Given the description of an element on the screen output the (x, y) to click on. 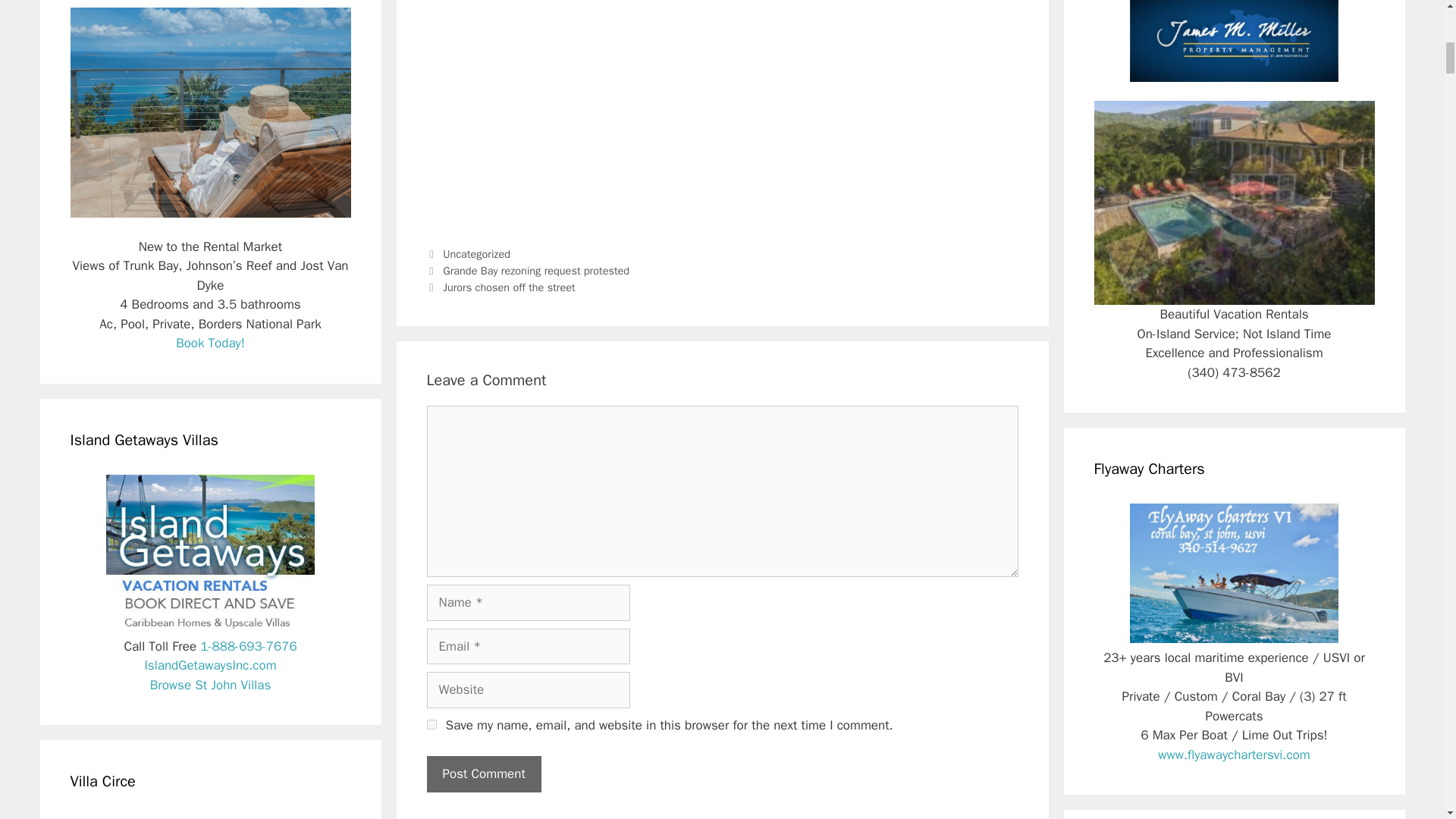
Grande Bay rezoning request protested (535, 270)
Uncategorized (476, 254)
Advertisement (721, 118)
Post Comment (483, 773)
yes (430, 724)
Next (500, 287)
Jurors chosen off the street (508, 287)
Post Comment (483, 773)
Previous (527, 270)
